Given the description of an element on the screen output the (x, y) to click on. 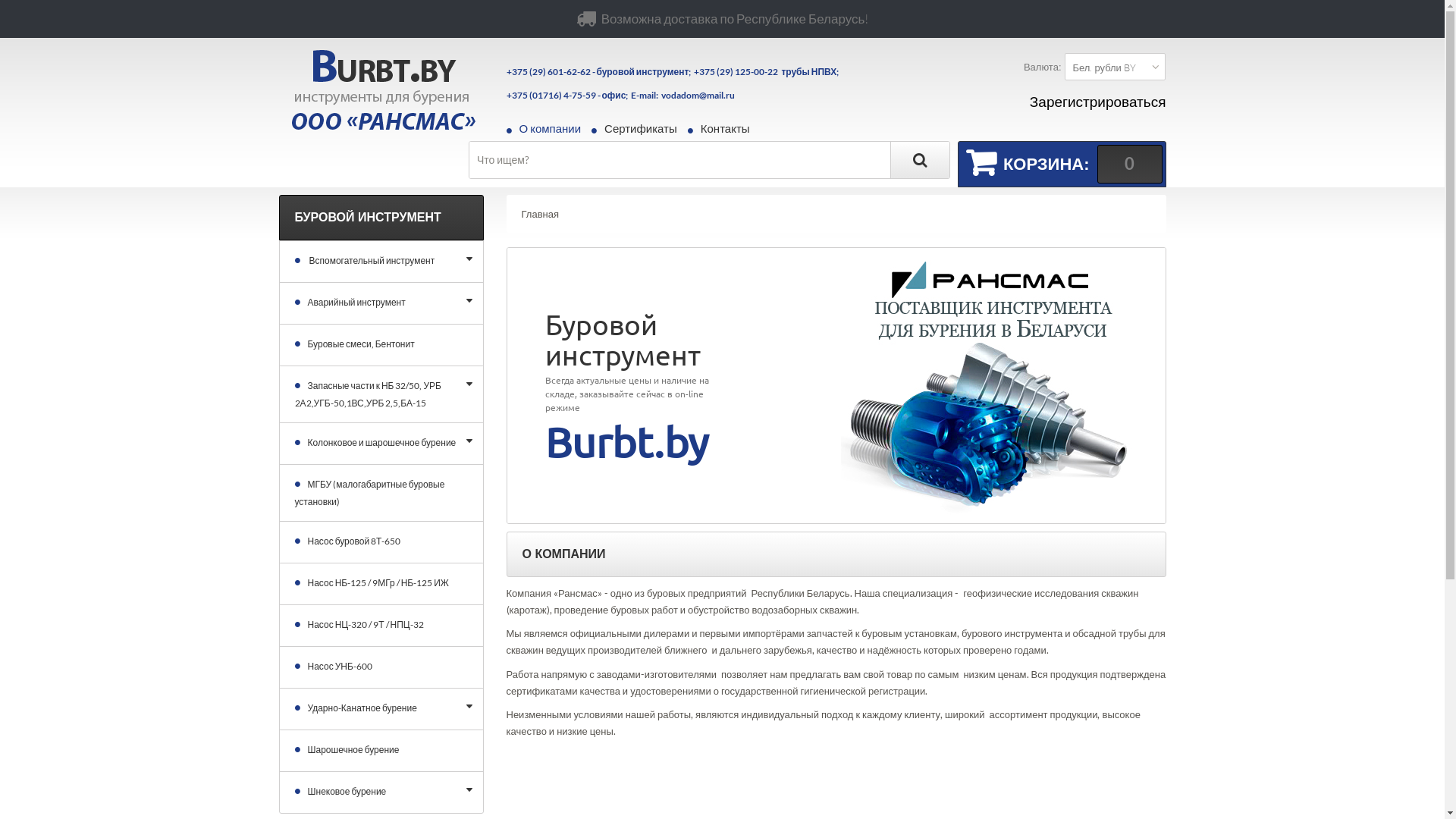
0 Element type: text (1128, 163)
